Given the description of an element on the screen output the (x, y) to click on. 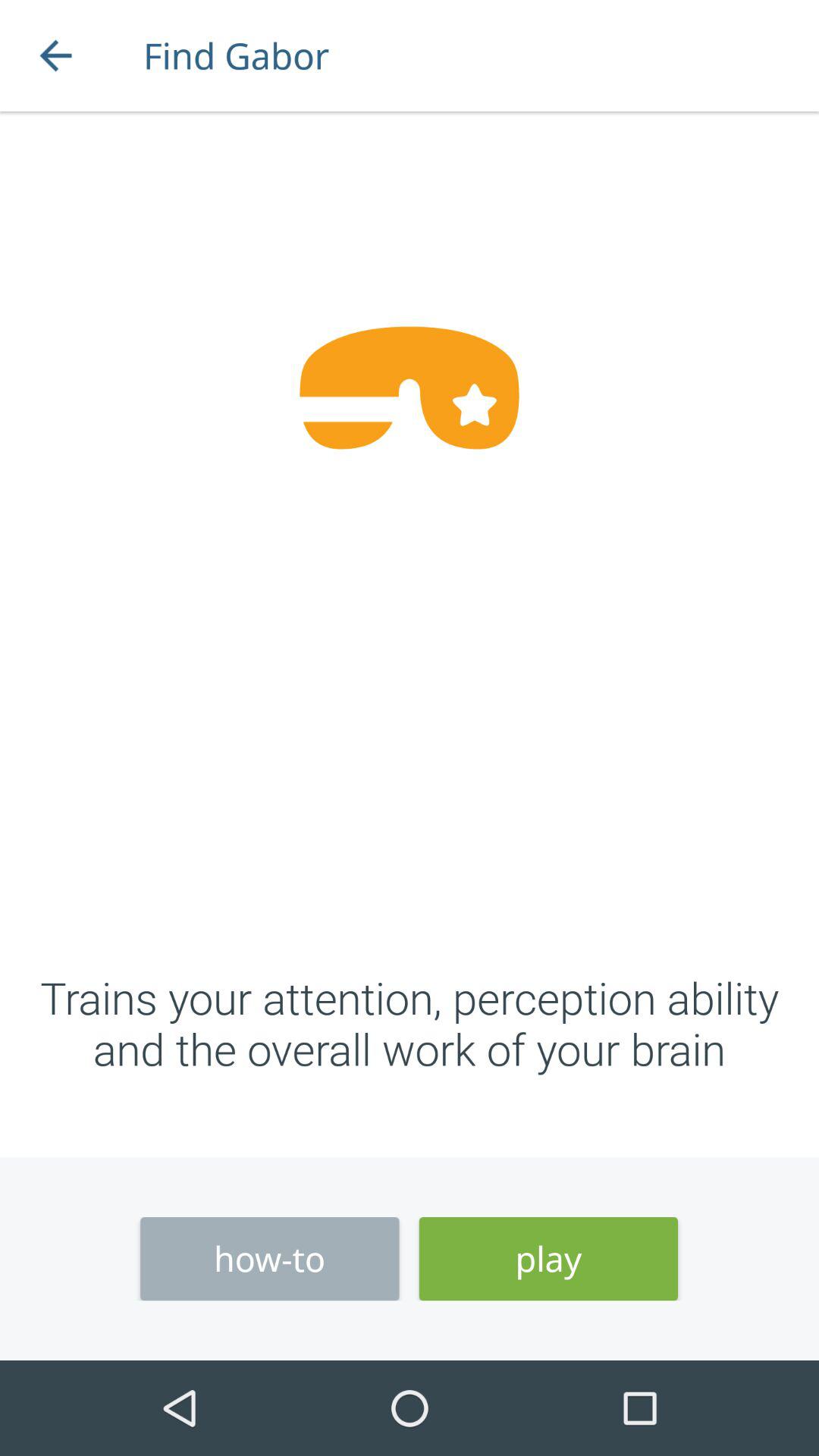
choose the icon to the left of the play icon (269, 1258)
